Given the description of an element on the screen output the (x, y) to click on. 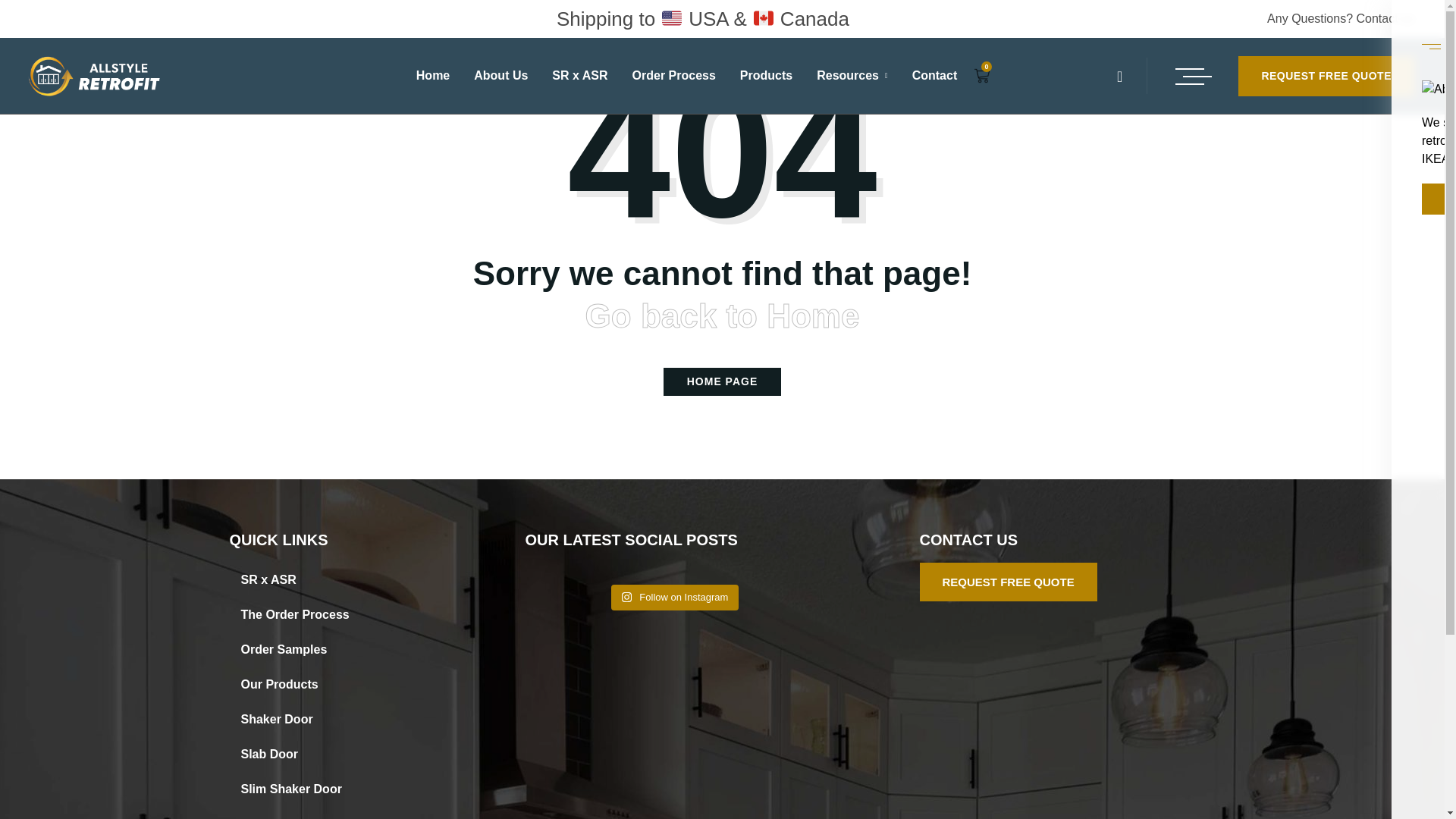
About Us (500, 75)
REQUEST FREE QUOTE (1326, 76)
Resources (852, 75)
Our Products (327, 684)
Slab Door (327, 754)
Products (766, 75)
Order Process (674, 75)
Any Questions? Contact us (1339, 18)
The Order Process (327, 614)
Order Samples (327, 649)
HOME PAGE (722, 381)
Allstyle Retrofit (94, 76)
Shaker Door (327, 719)
SR x ASR (327, 579)
Allstyle Retrofit (94, 76)
